Given the description of an element on the screen output the (x, y) to click on. 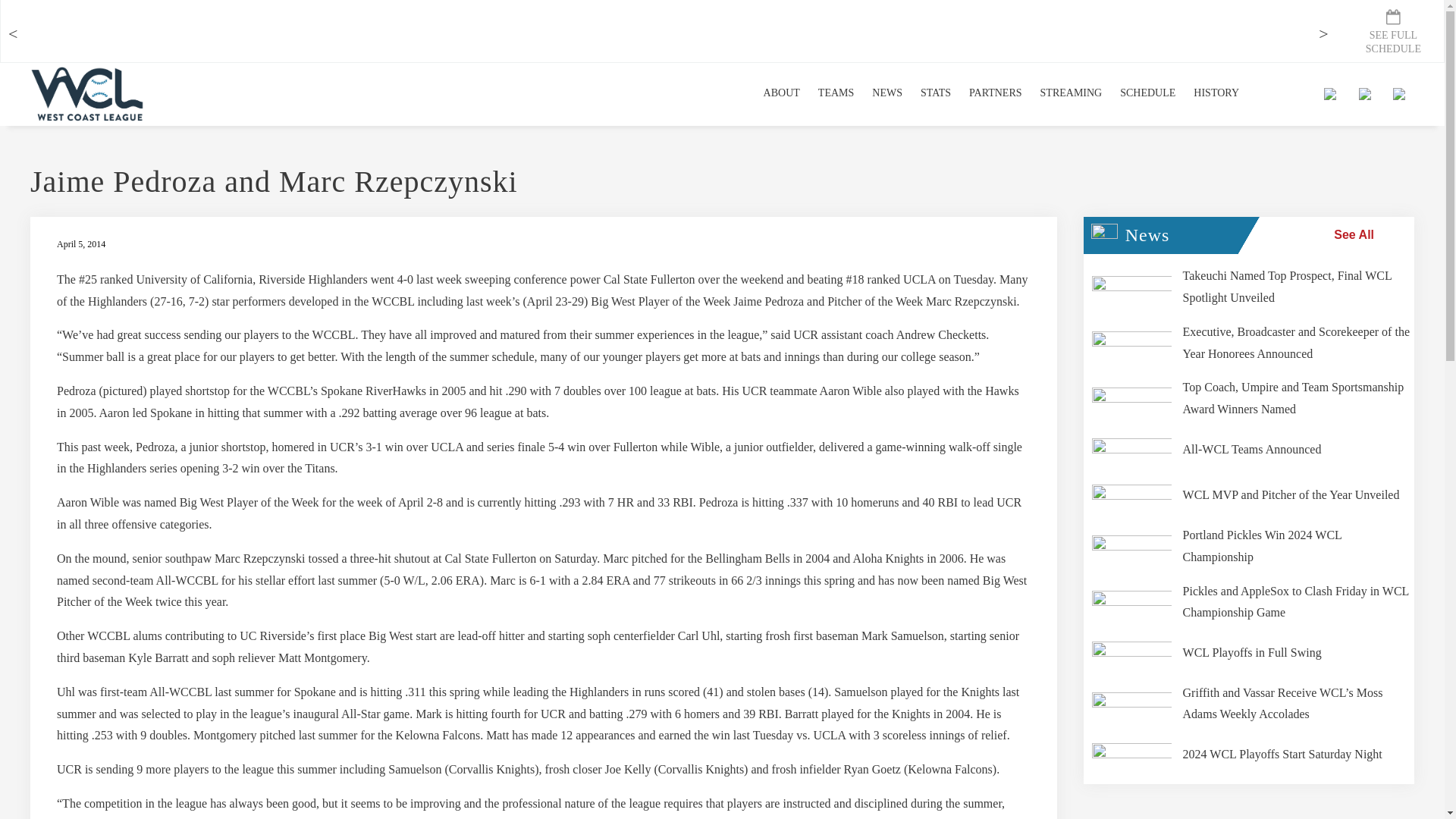
SEE FULL SCHEDULE (1393, 28)
ABOUT (781, 94)
TEAMS (836, 94)
